Given the description of an element on the screen output the (x, y) to click on. 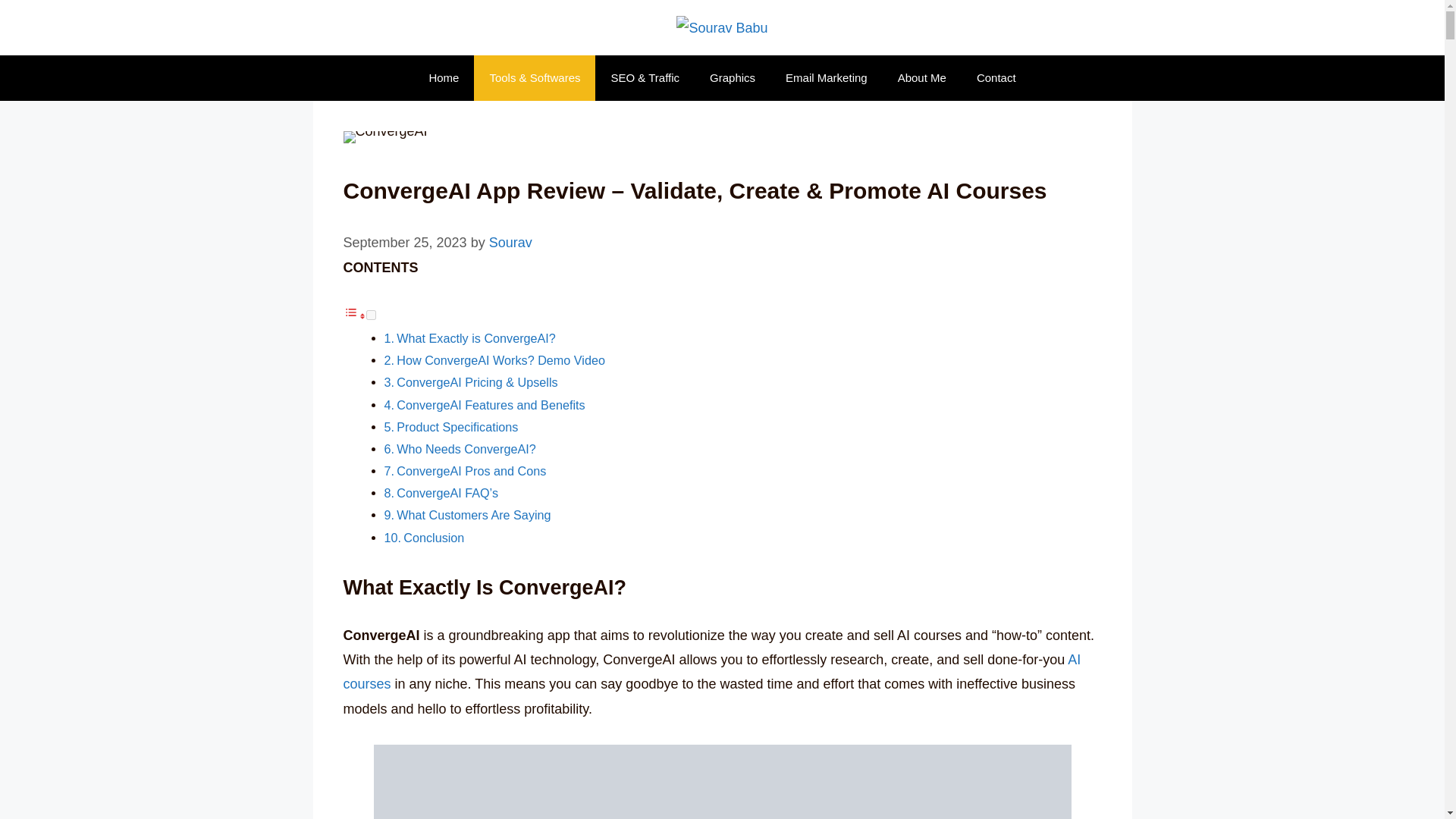
How ConvergeAI Works? Demo Video (500, 359)
Who Needs ConvergeAI? (465, 448)
What Customers Are Saying (473, 514)
Conclusion (433, 537)
ConvergeAI Features and Benefits (490, 404)
Graphics (732, 77)
How ConvergeAI Works? Demo Video (500, 359)
View all posts by Sourav (510, 242)
ConvergeAI Pros and Cons (471, 470)
Sourav (510, 242)
What Exactly is ConvergeAI? (476, 337)
ConvergeAI Pros and Cons (471, 470)
What Exactly is ConvergeAI? (476, 337)
Conclusion (433, 537)
Email Marketing (826, 77)
